Given the description of an element on the screen output the (x, y) to click on. 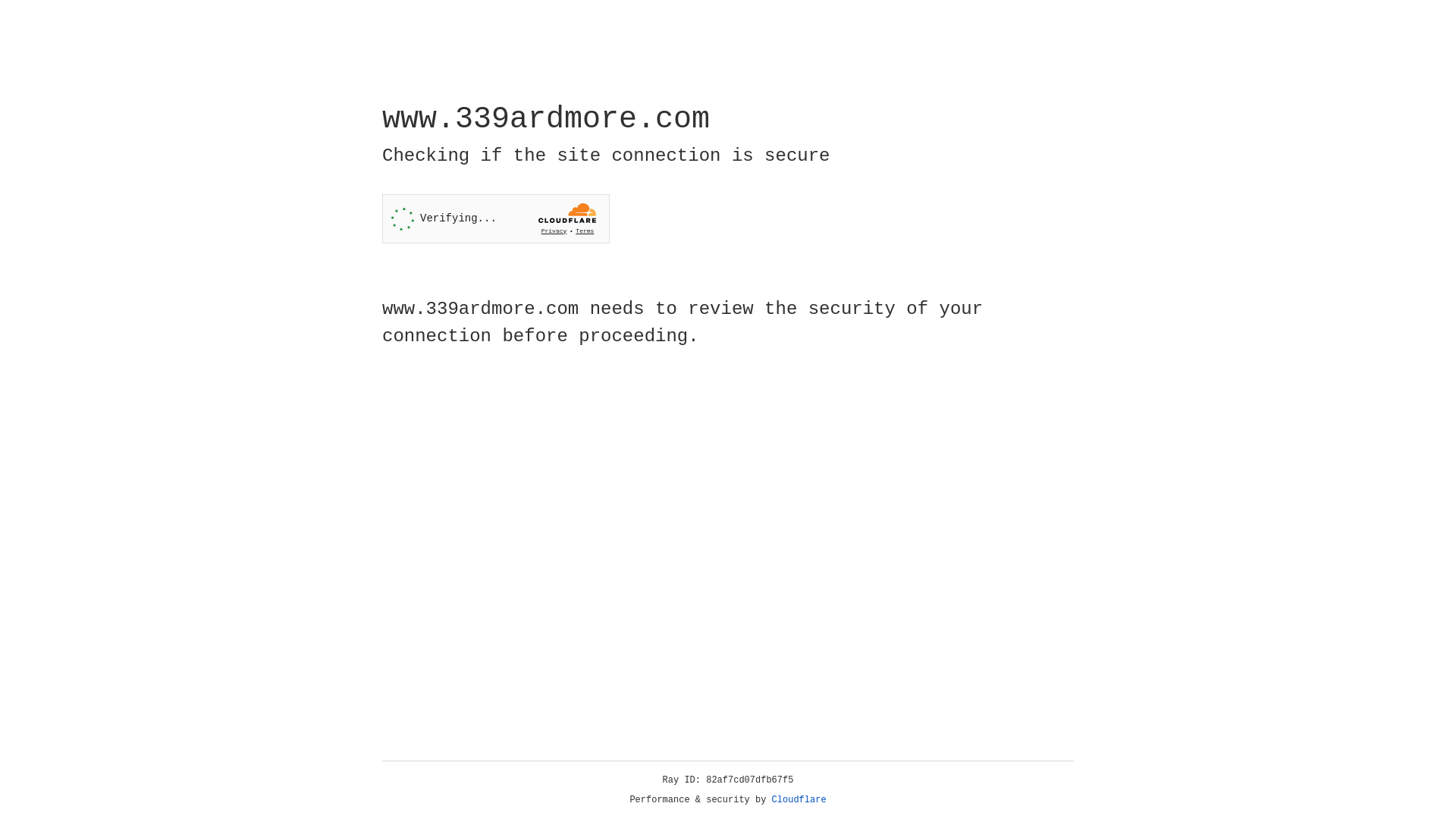
Widget containing a Cloudflare security challenge Element type: hover (495, 218)
Cloudflare Element type: text (798, 799)
